Given the description of an element on the screen output the (x, y) to click on. 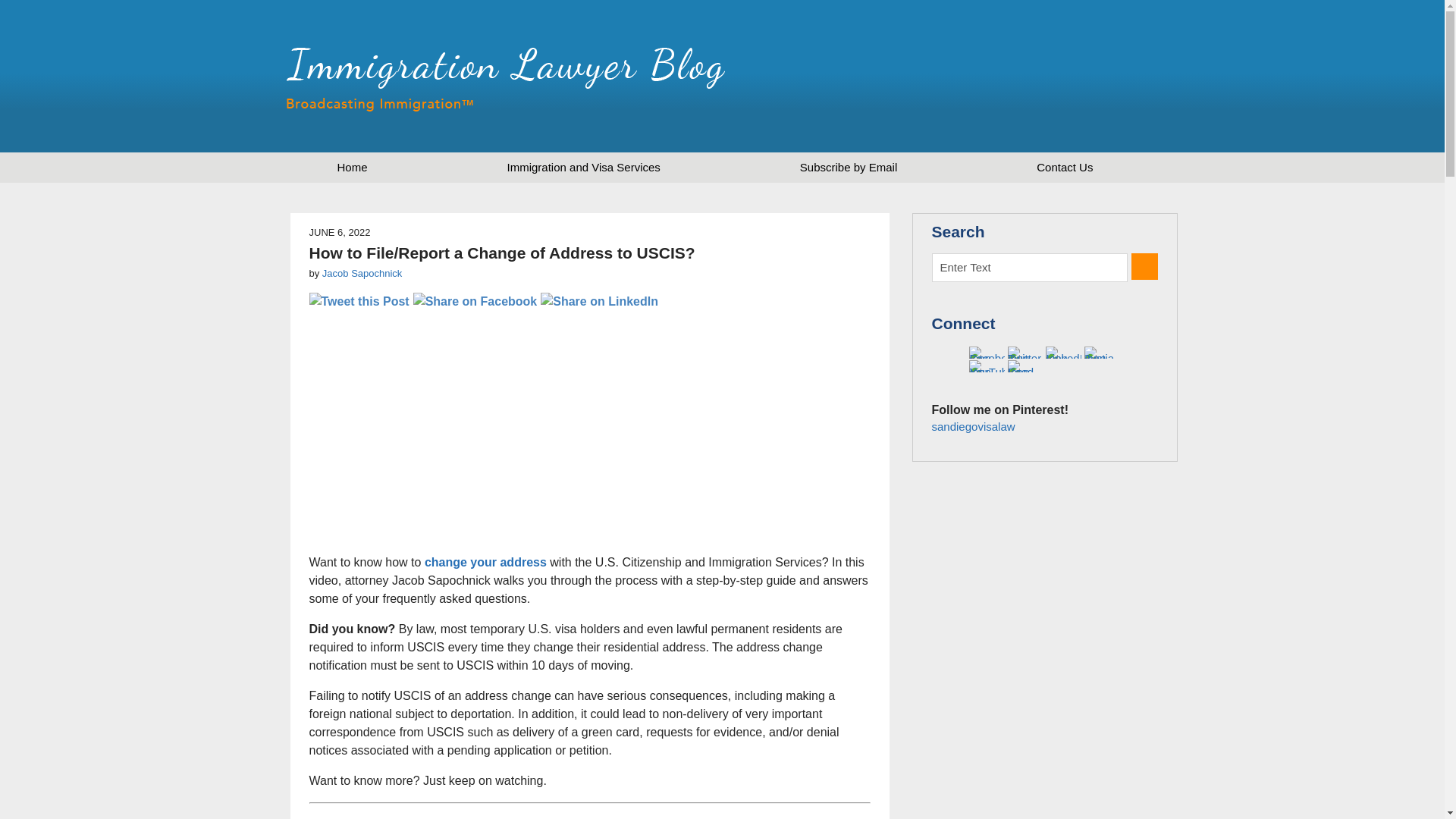
Contact Us (1063, 167)
Home (351, 167)
Immigration Lawyer Blog (505, 79)
Subscribe by Email (848, 167)
Jacob Sapochnick (362, 273)
Published by Sapochnick Law Firm (1066, 75)
change your address (486, 562)
Immigration and Visa Services (584, 167)
